Given the description of an element on the screen output the (x, y) to click on. 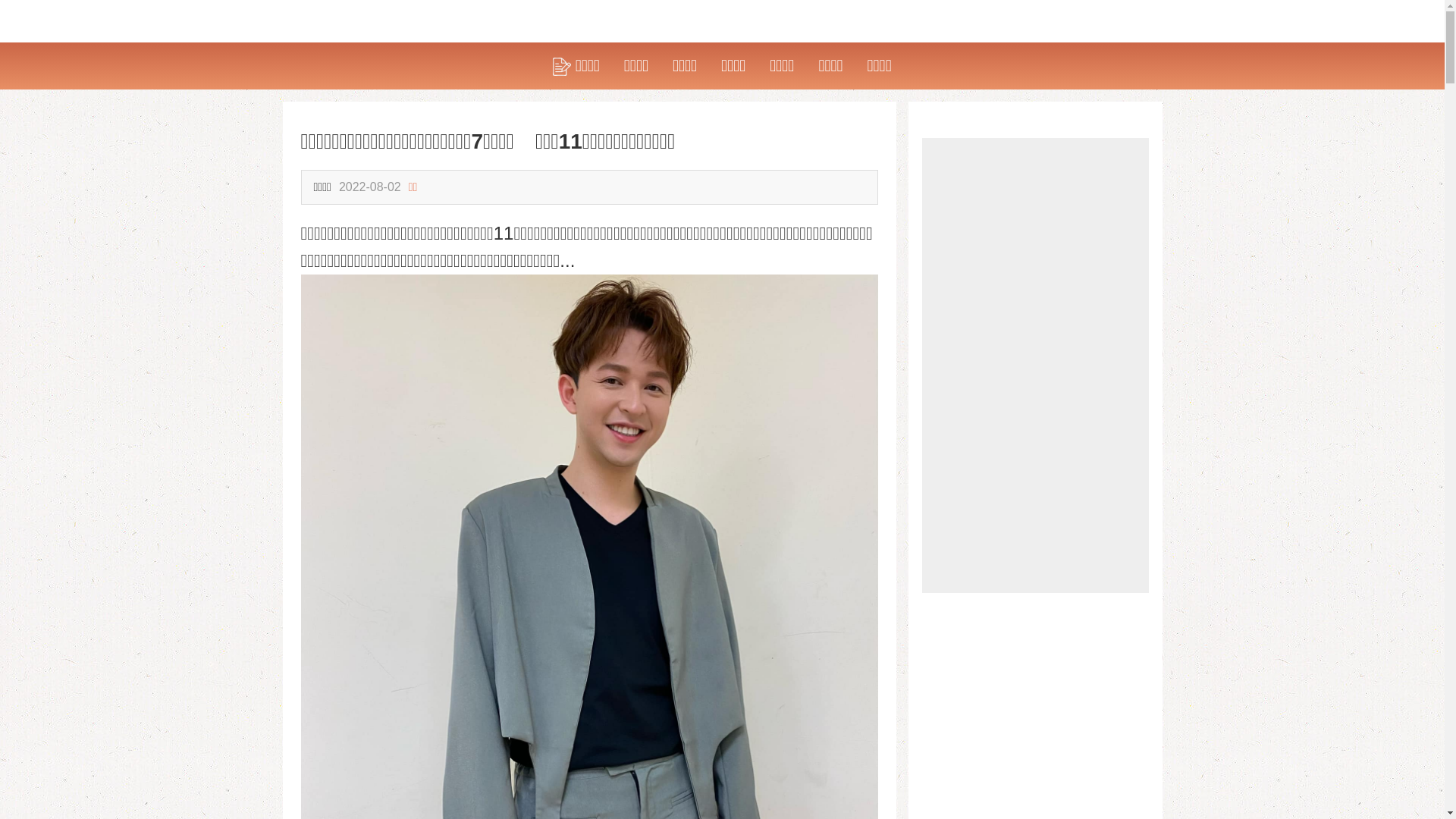
Advertisement Element type: hover (1035, 365)
